Given the description of an element on the screen output the (x, y) to click on. 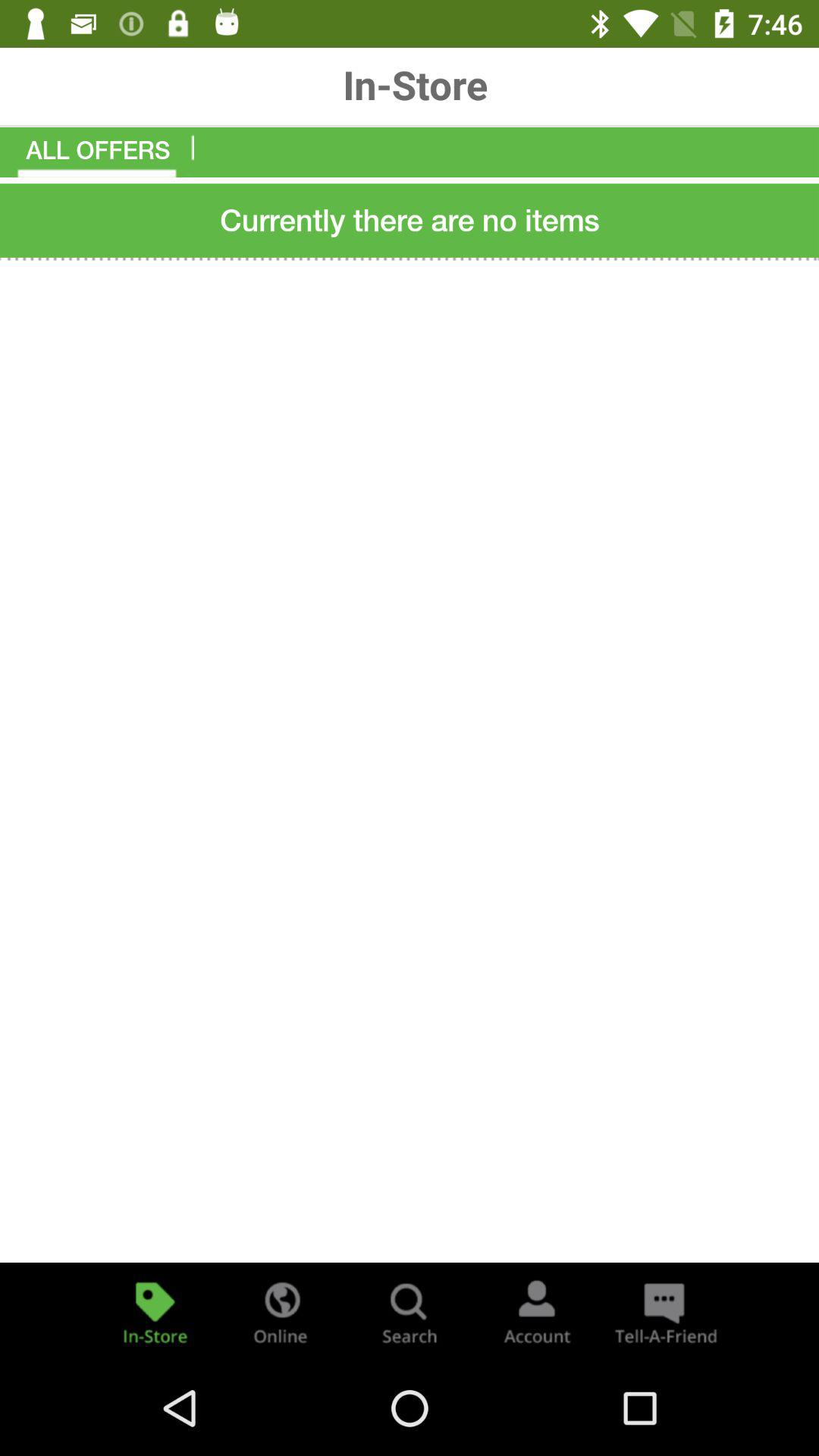
in-store offers (154, 1311)
